Given the description of an element on the screen output the (x, y) to click on. 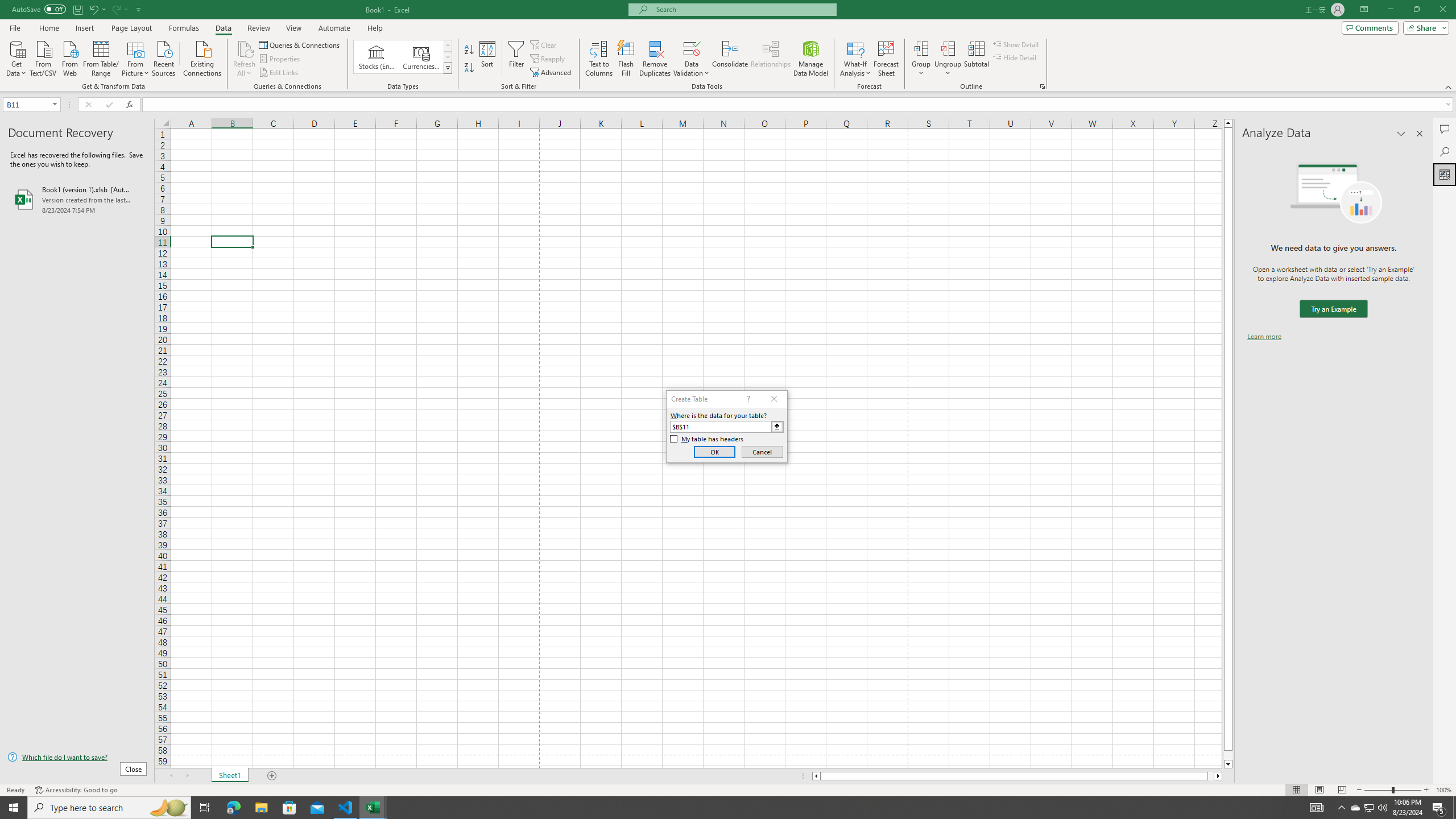
Which file do I want to save? (77, 757)
Flash Fill (625, 58)
Hide Detail (1014, 56)
Accessibility Checker Accessibility: Good to go (76, 790)
Open (54, 104)
Stocks (English) (375, 56)
Microsoft search (742, 9)
Group... (921, 48)
Search (1444, 151)
AutomationID: ConvertToLinkedEntity (403, 56)
Ungroup... (947, 48)
Page down (1228, 755)
Automate (334, 28)
